Given the description of an element on the screen output the (x, y) to click on. 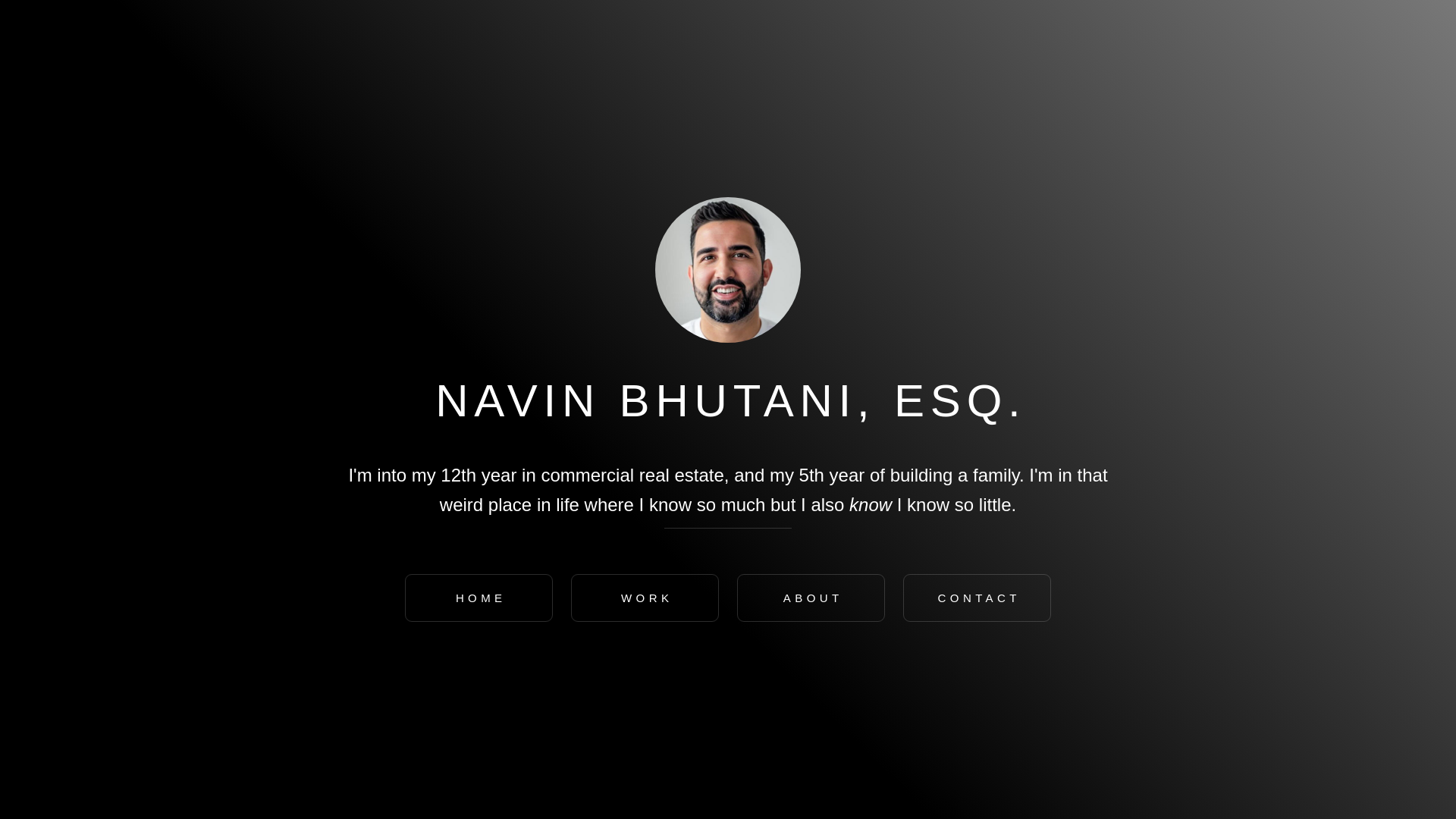
ABOUT (810, 597)
HOME (478, 597)
WORK (644, 597)
CONTACT (976, 597)
